Given the description of an element on the screen output the (x, y) to click on. 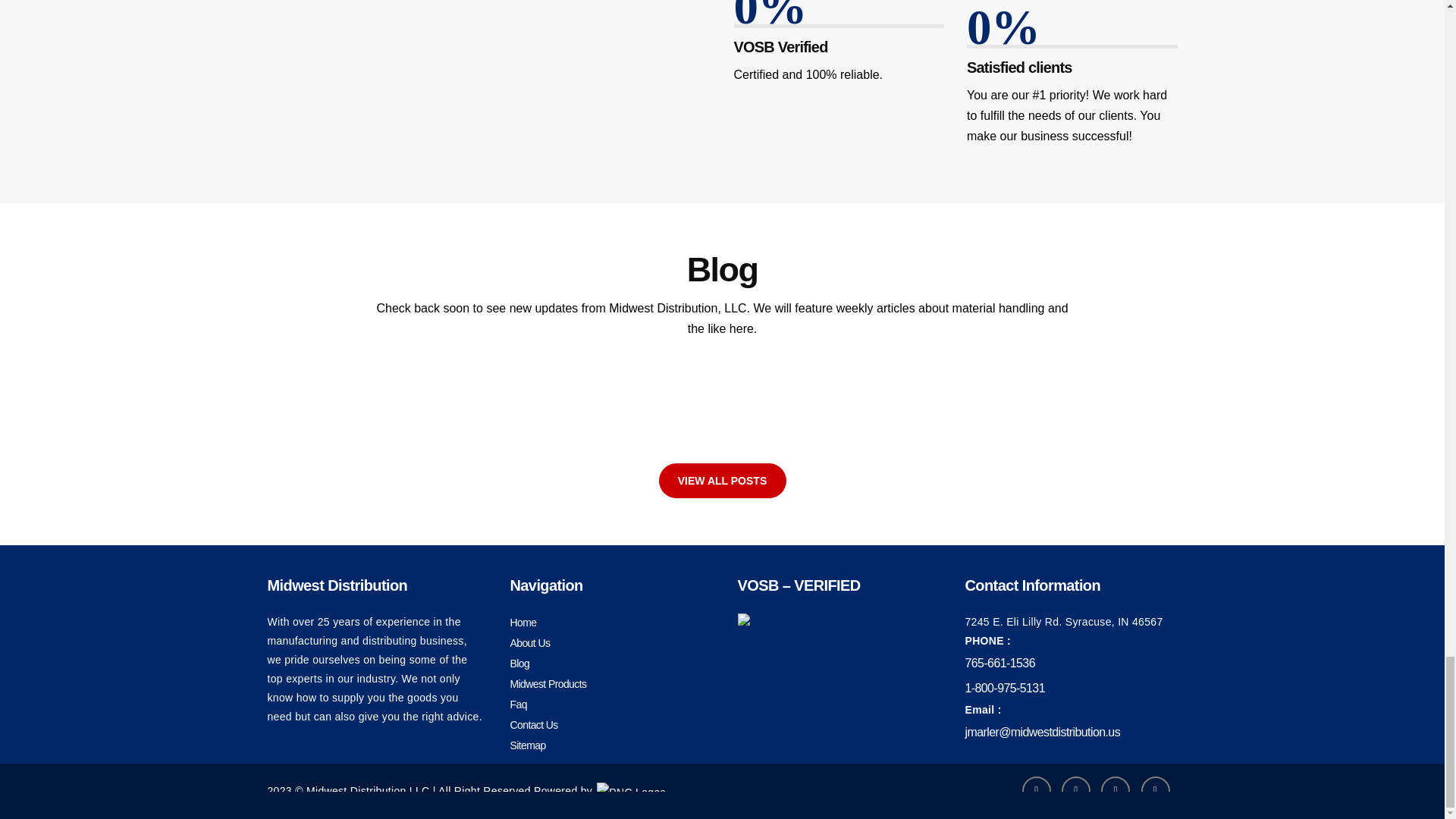
PNC Logos (630, 792)
